Given the description of an element on the screen output the (x, y) to click on. 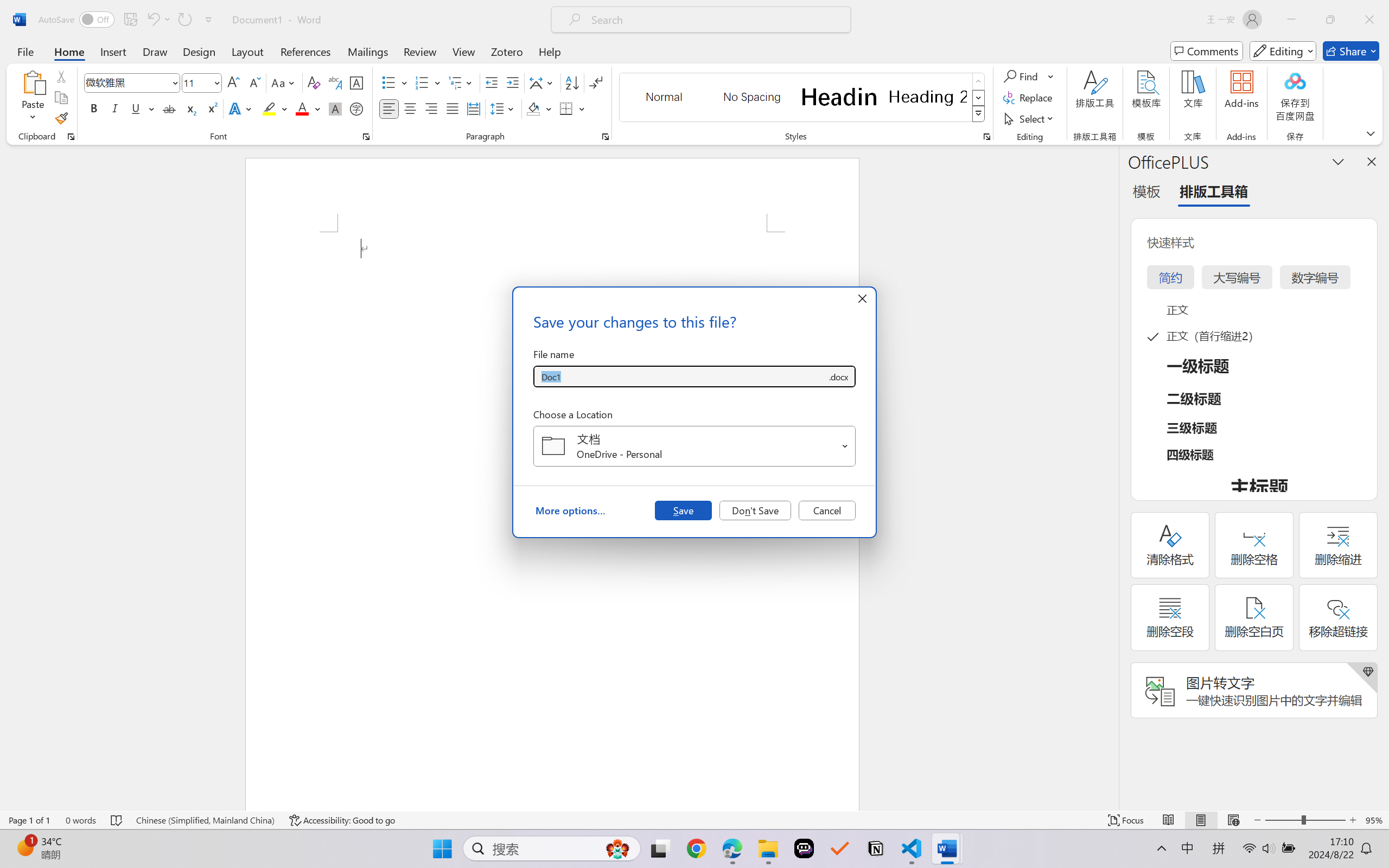
Repeat Style (184, 19)
AutomationID: QuickStylesGallery (802, 97)
